Given the description of an element on the screen output the (x, y) to click on. 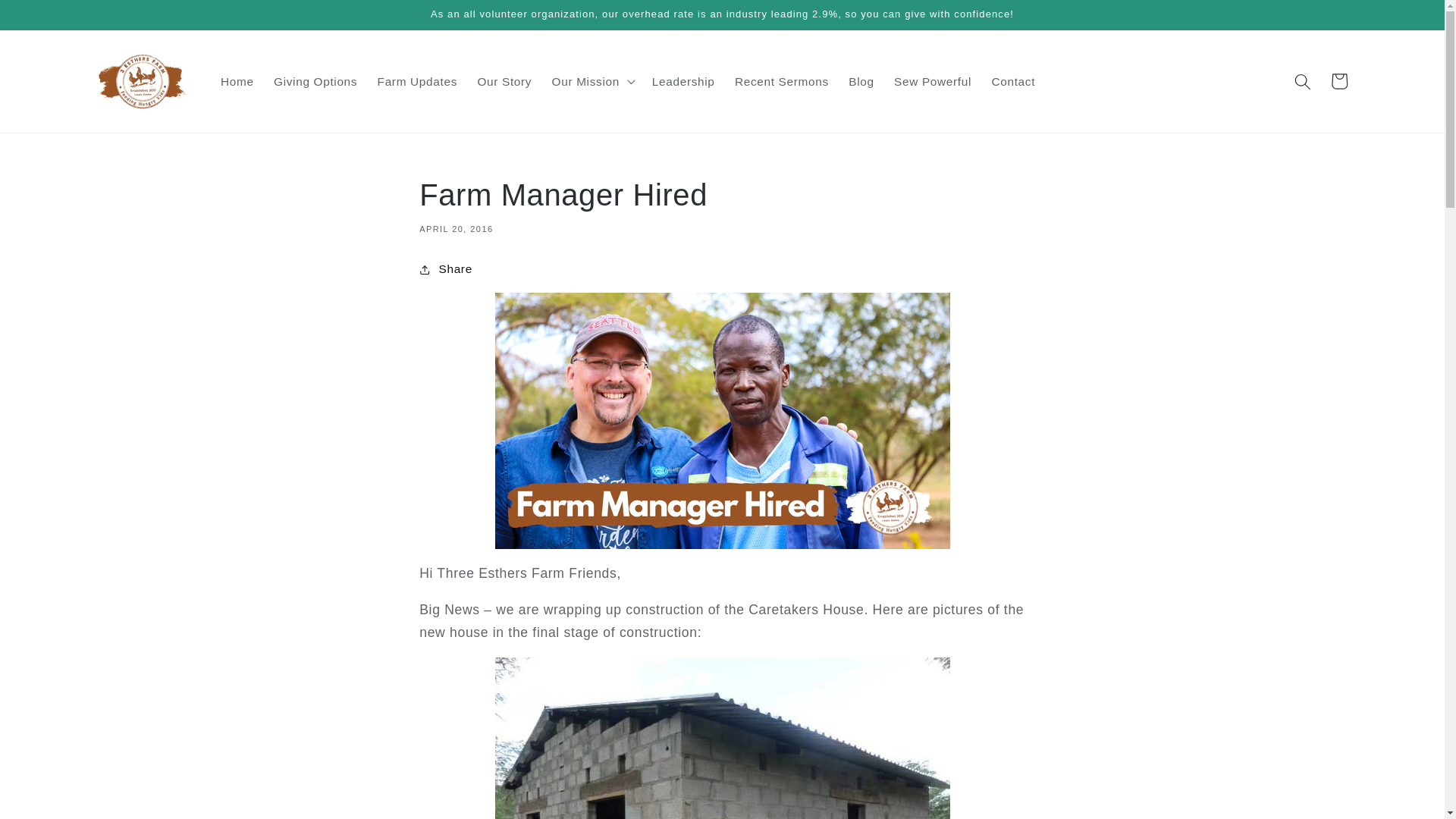
Contact (1013, 81)
Cart (1338, 81)
Farm Updates (416, 81)
Our Story (504, 81)
Giving Options (315, 81)
Blog (860, 81)
Leadership (683, 81)
Sew Powerful (932, 81)
Recent Sermons (781, 81)
Home (237, 81)
Skip to content (49, 18)
